Given the description of an element on the screen output the (x, y) to click on. 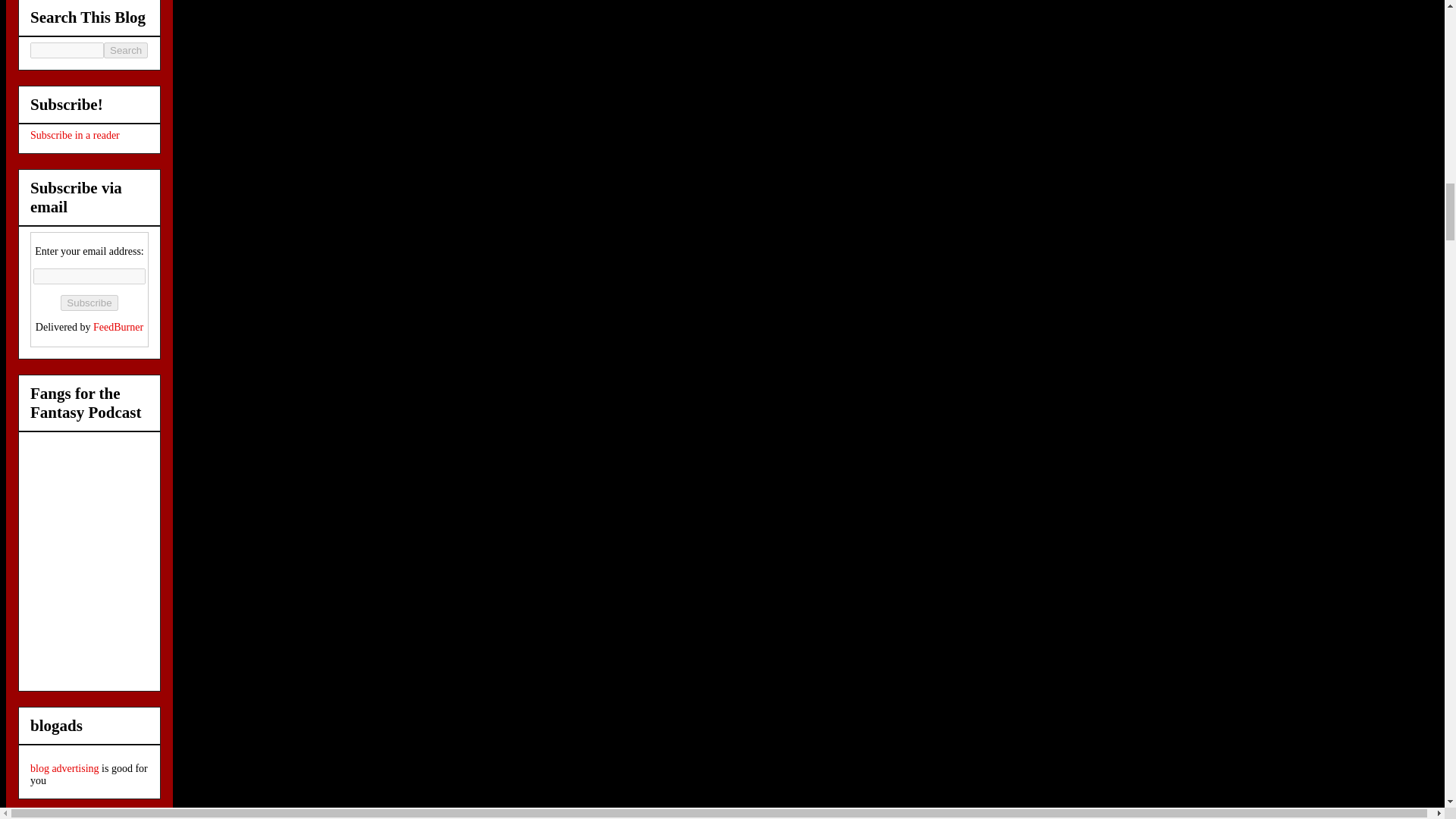
search (66, 50)
Search (125, 50)
Subscribe (89, 302)
search (125, 50)
Search (125, 50)
Subscribe to my feed (74, 134)
